Given the description of an element on the screen output the (x, y) to click on. 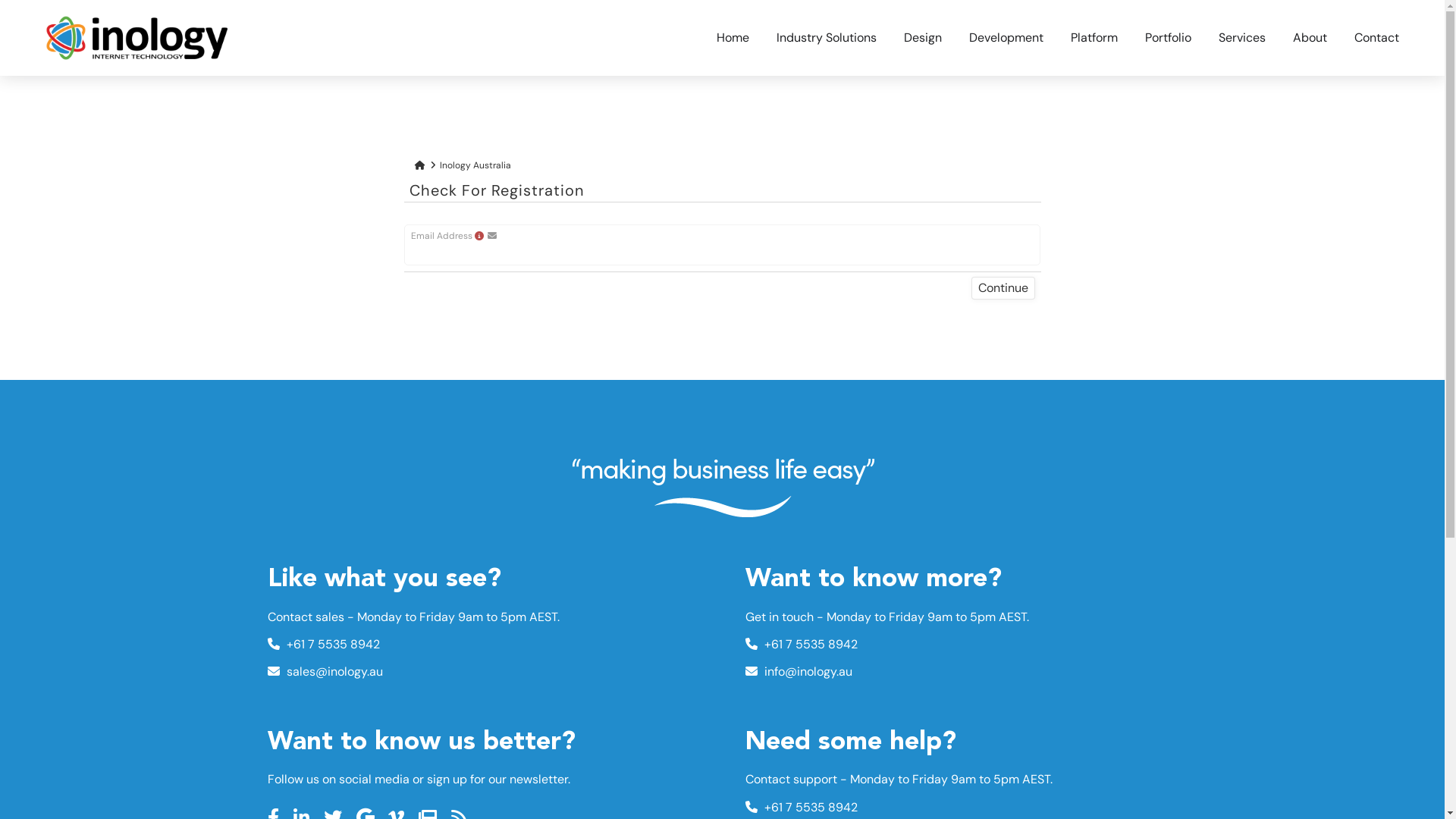
Contact Element type: text (1376, 37)
Continue Element type: text (1002, 287)
+61 7 5535 8942 Element type: text (800, 807)
About Element type: text (1309, 37)
Design Element type: text (922, 37)
Inology Australia Element type: text (474, 165)
+61 7 5535 8942 Element type: text (322, 644)
+61 7 5535 8942 Element type: text (800, 644)
Development Element type: text (1006, 37)
Services Element type: text (1241, 37)
sales@inology.au Element type: text (324, 671)
Platform Element type: text (1094, 37)
Portfolio Element type: text (1167, 37)
info@inology.au Element type: text (797, 671)
Home Element type: text (732, 37)
